Given the description of an element on the screen output the (x, y) to click on. 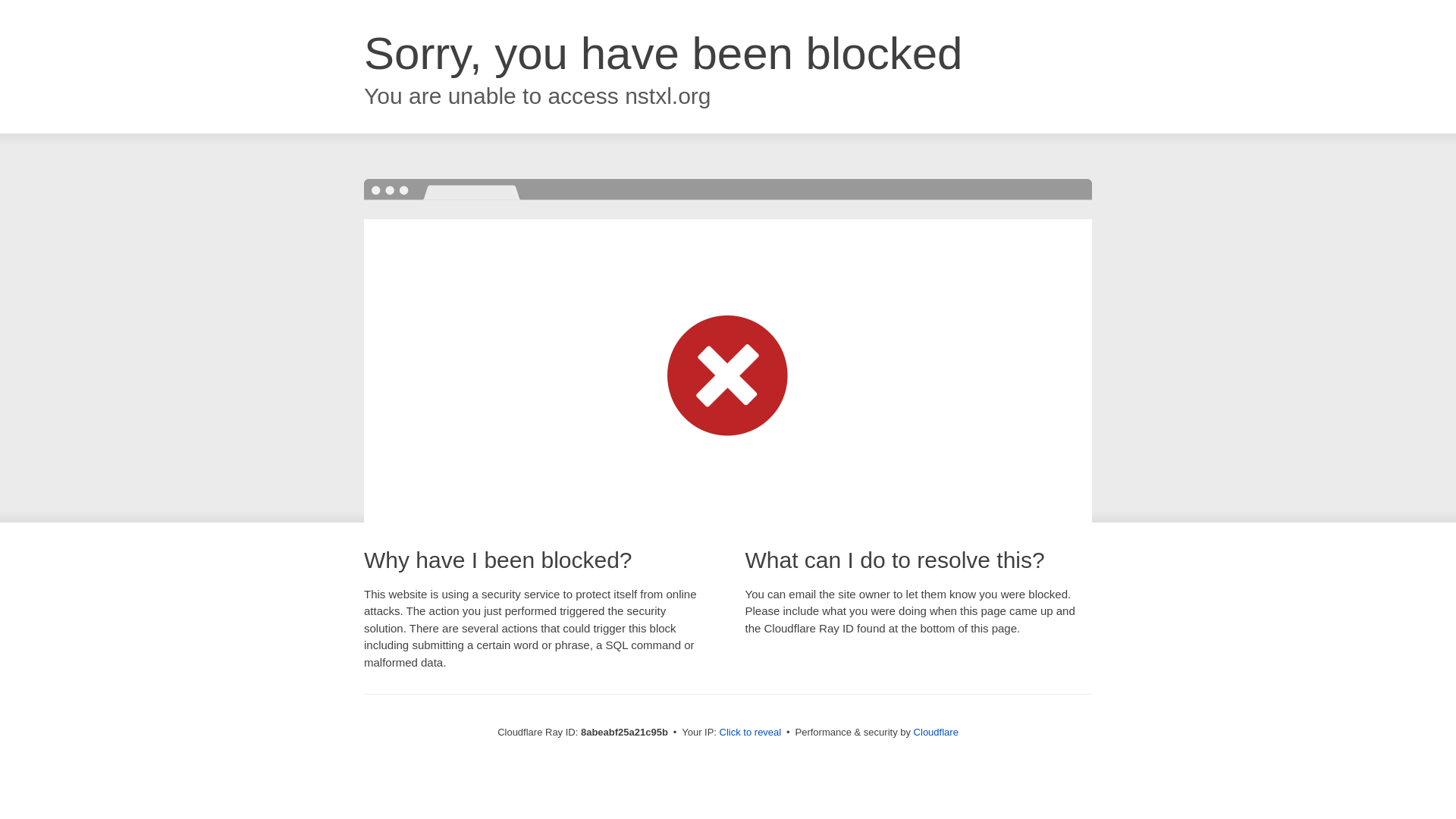
Click to reveal (750, 732)
Cloudflare (936, 731)
